Given the description of an element on the screen output the (x, y) to click on. 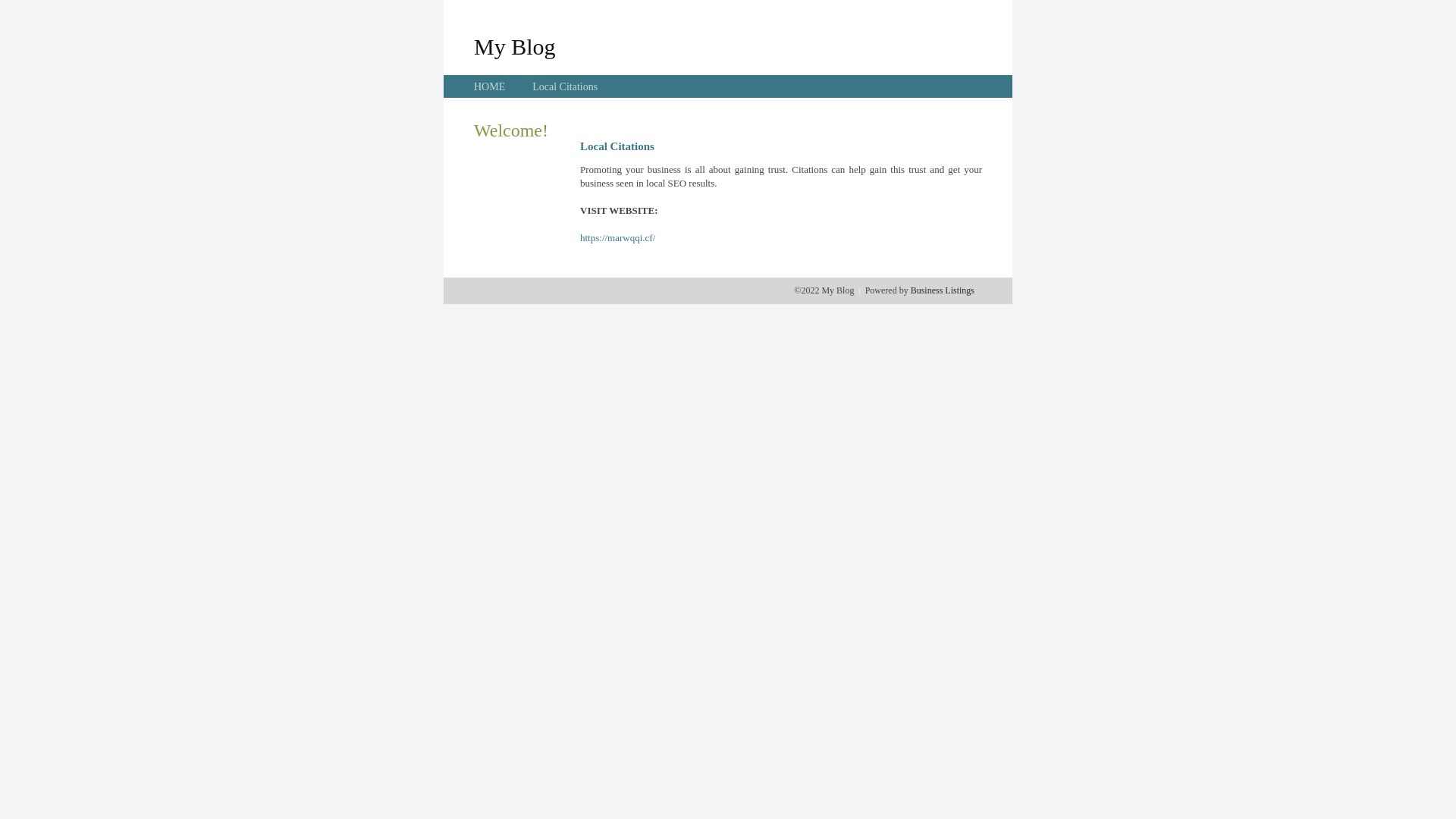
Local Citations Element type: text (564, 86)
https://marwqqi.cf/ Element type: text (617, 237)
HOME Element type: text (489, 86)
My Blog Element type: text (514, 46)
Business Listings Element type: text (942, 290)
